Given the description of an element on the screen output the (x, y) to click on. 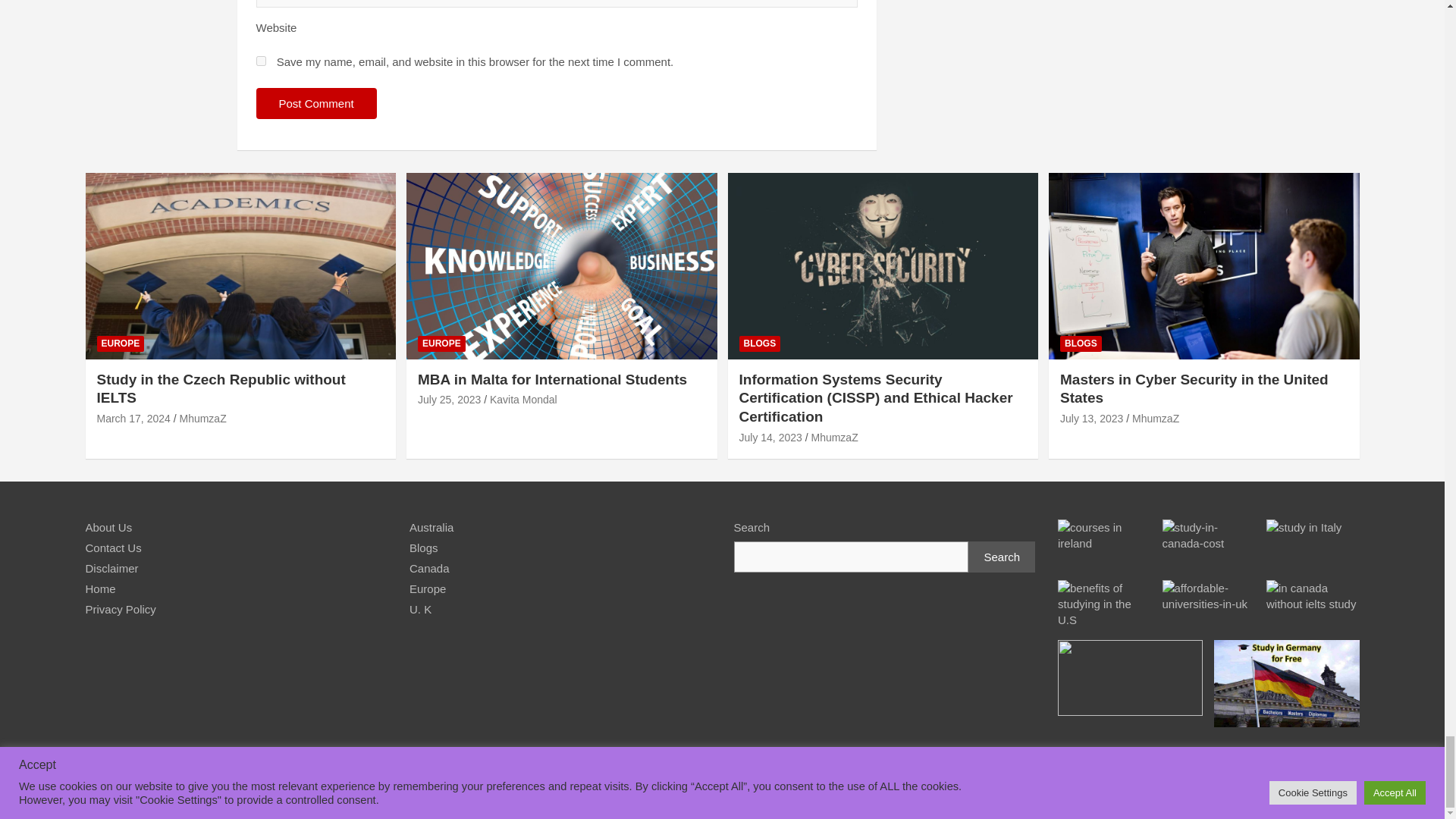
yes (261, 61)
Post Comment (316, 102)
